Given the description of an element on the screen output the (x, y) to click on. 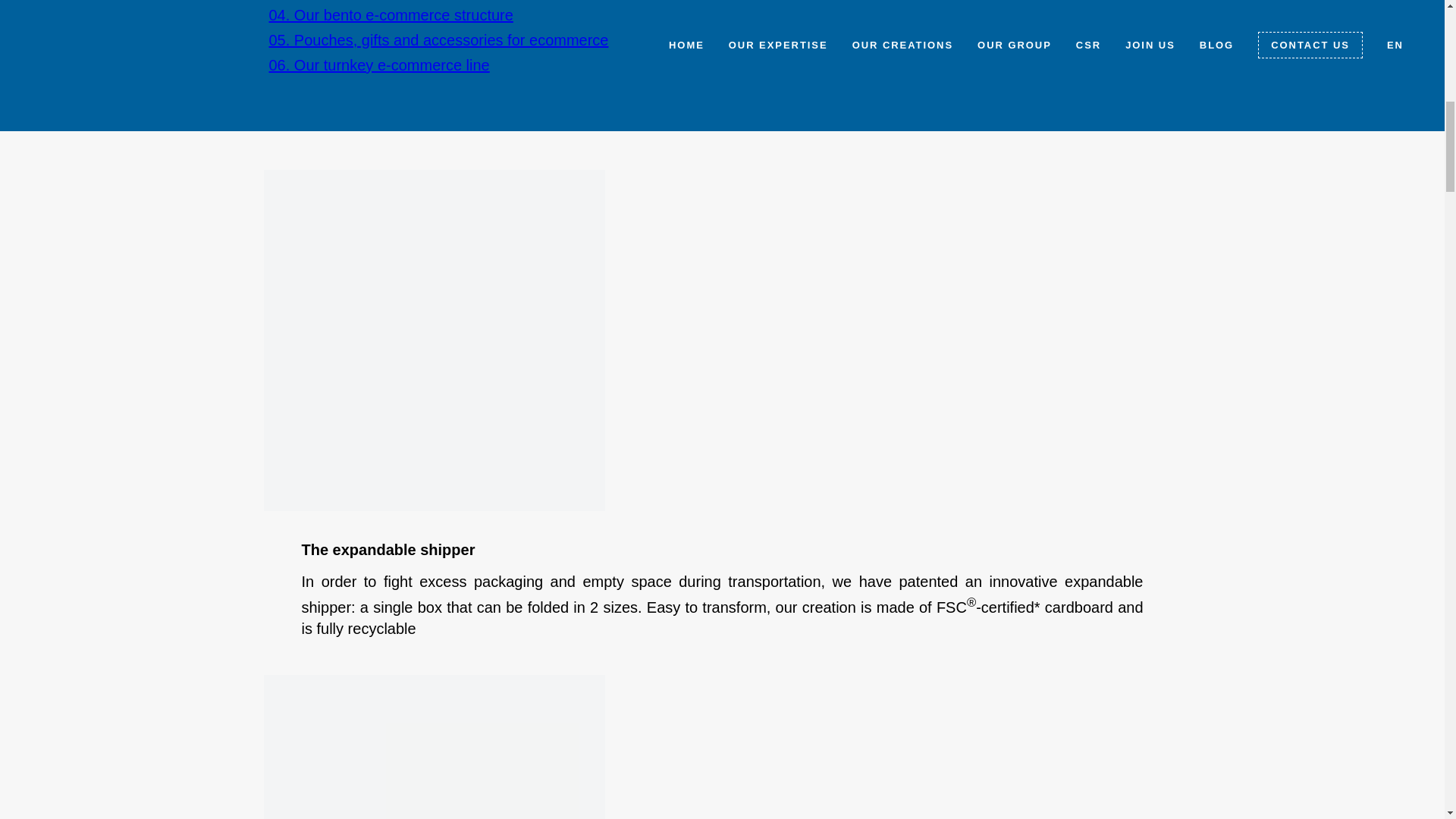
04. Our bento e-commerce structure (389, 14)
06. Our turnkey e-commerce line (378, 64)
star pack (434, 746)
expendable shipper (434, 340)
05. Pouches, gifts and accessories for ecommerce (437, 39)
